Given the description of an element on the screen output the (x, y) to click on. 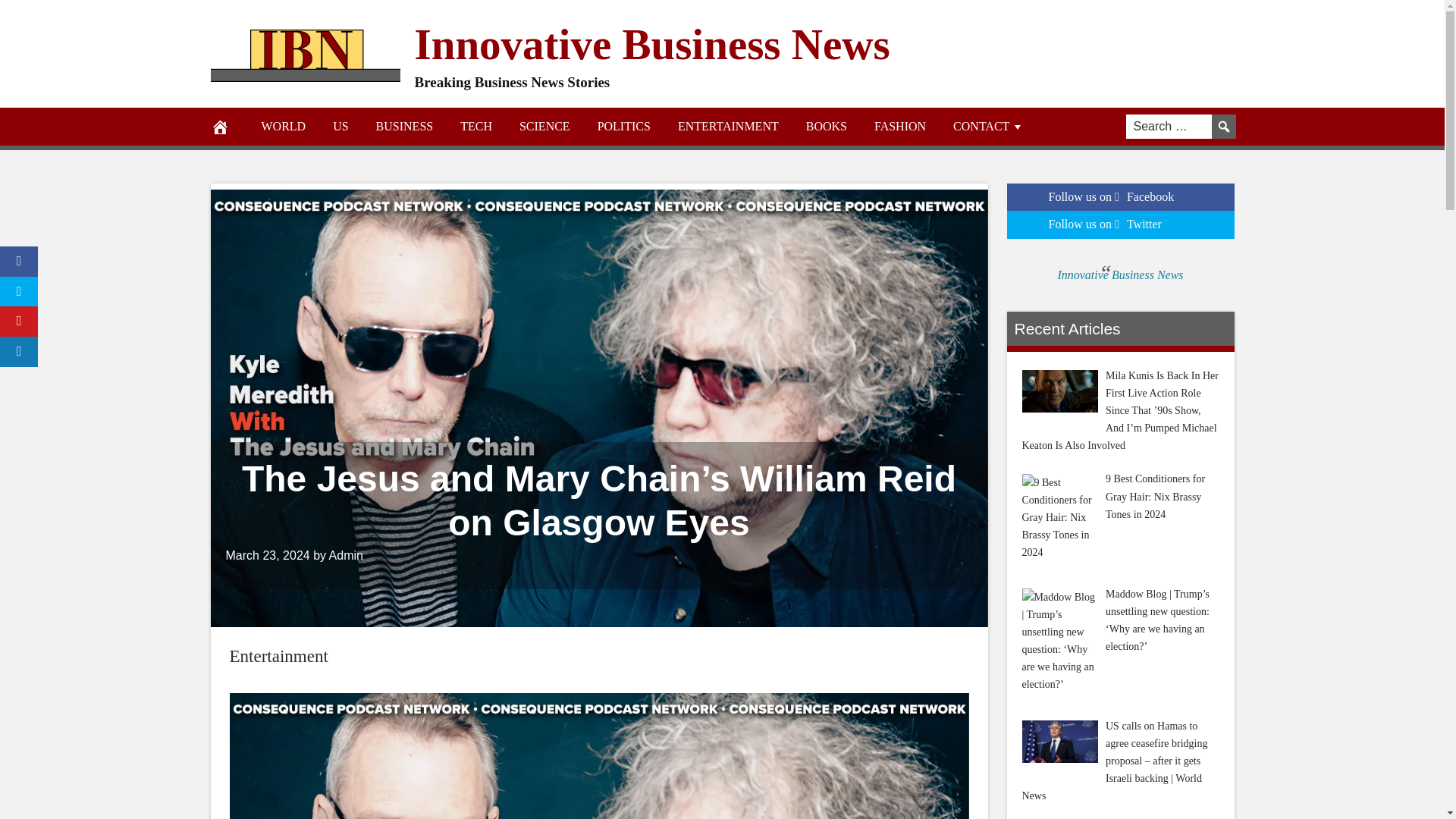
US (339, 126)
ENTERTAINMENT (727, 126)
WORLD (282, 126)
SCIENCE (544, 126)
TECH (475, 126)
BUSINESS (404, 126)
POLITICS (623, 126)
FASHION (899, 126)
Entertainment (277, 656)
CONTACT (988, 126)
